Given the description of an element on the screen output the (x, y) to click on. 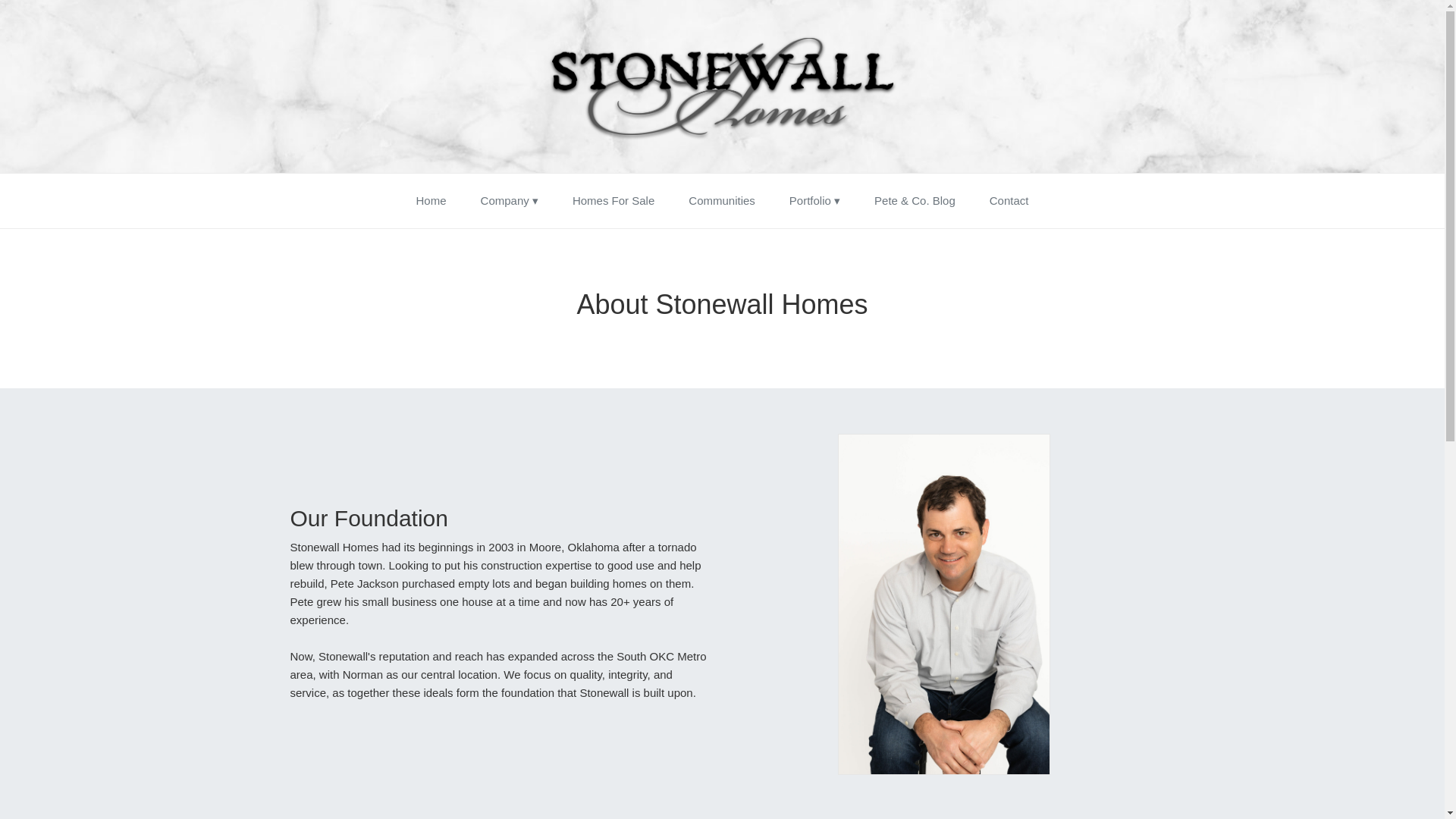
Homes For Sale (612, 200)
Portfolio (814, 200)
Contact (1009, 200)
Home (431, 200)
Company (509, 200)
Communities (721, 200)
